Given the description of an element on the screen output the (x, y) to click on. 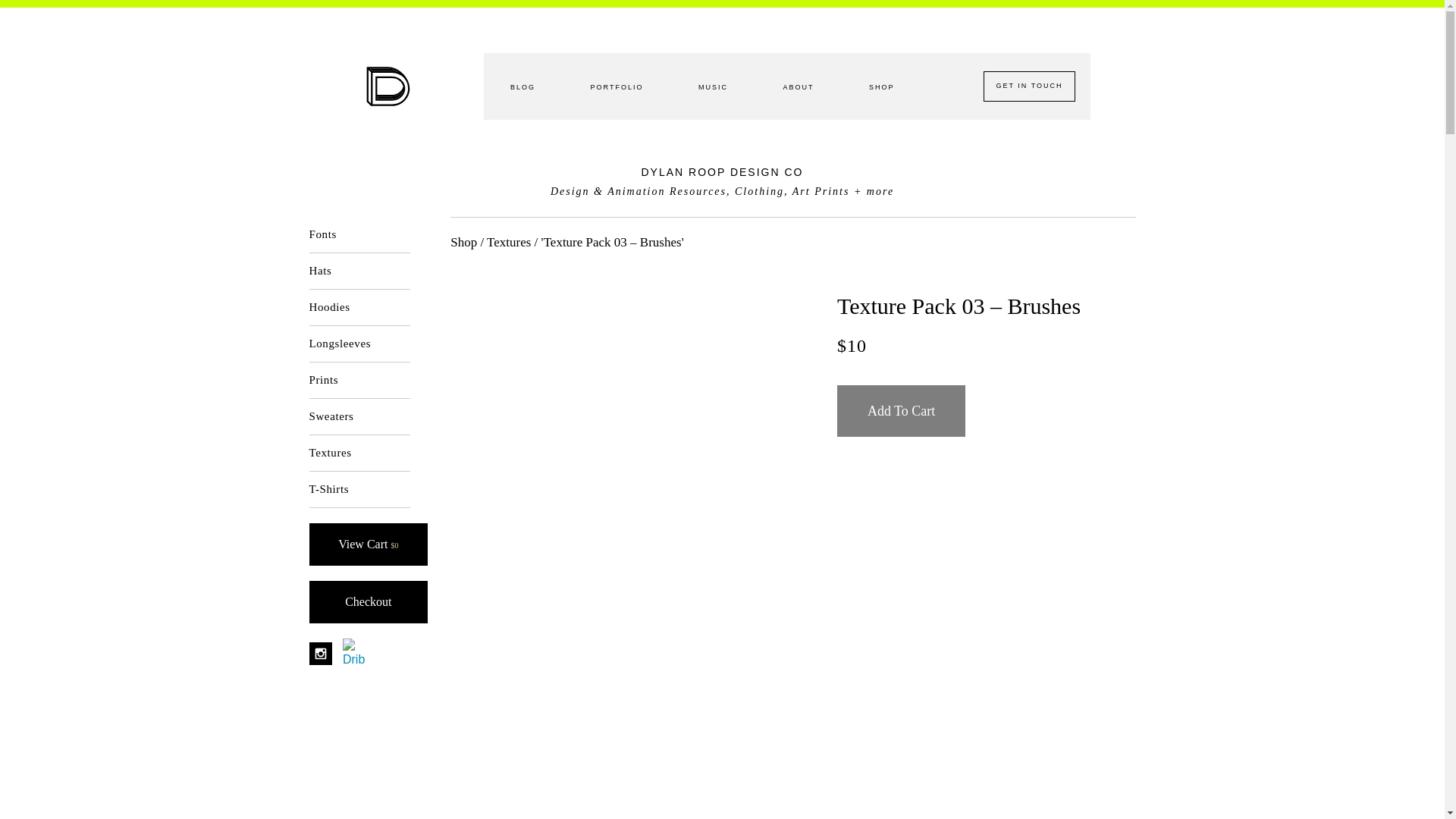
Hoodies (359, 307)
BLOG (522, 87)
DYLAN ROOP DESIGN CO (721, 172)
Hats (359, 271)
Longsleeves (359, 343)
Checkout (368, 601)
PORTFOLIO (616, 87)
Prints (359, 380)
Add To Cart (901, 410)
Textures (508, 242)
